Given the description of an element on the screen output the (x, y) to click on. 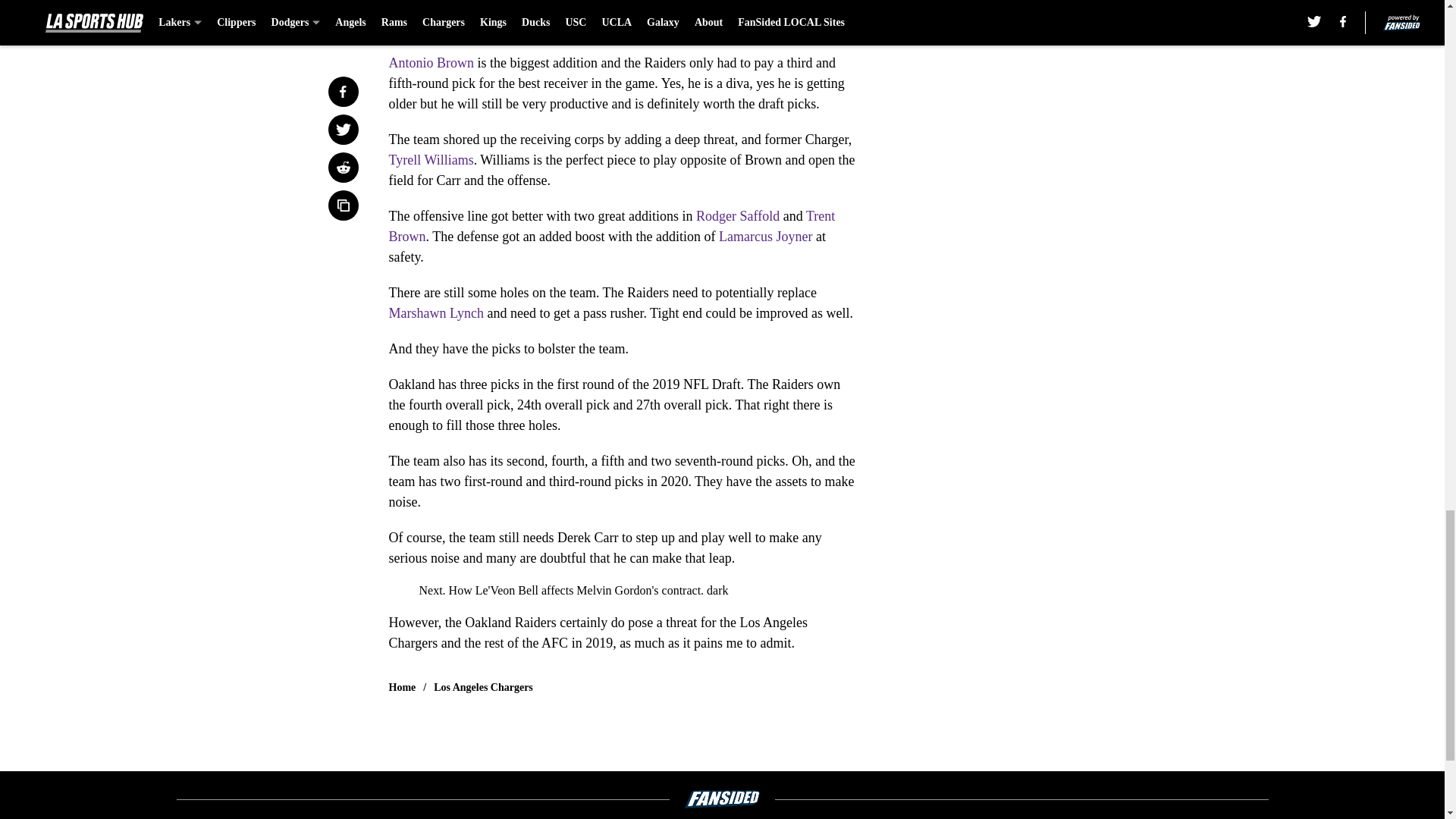
Rodger Saffold (736, 215)
Tyrell Williams (430, 159)
Lamarcus Joyner (765, 236)
Trent Brown (611, 226)
Antonio Brown (431, 62)
